Given the description of an element on the screen output the (x, y) to click on. 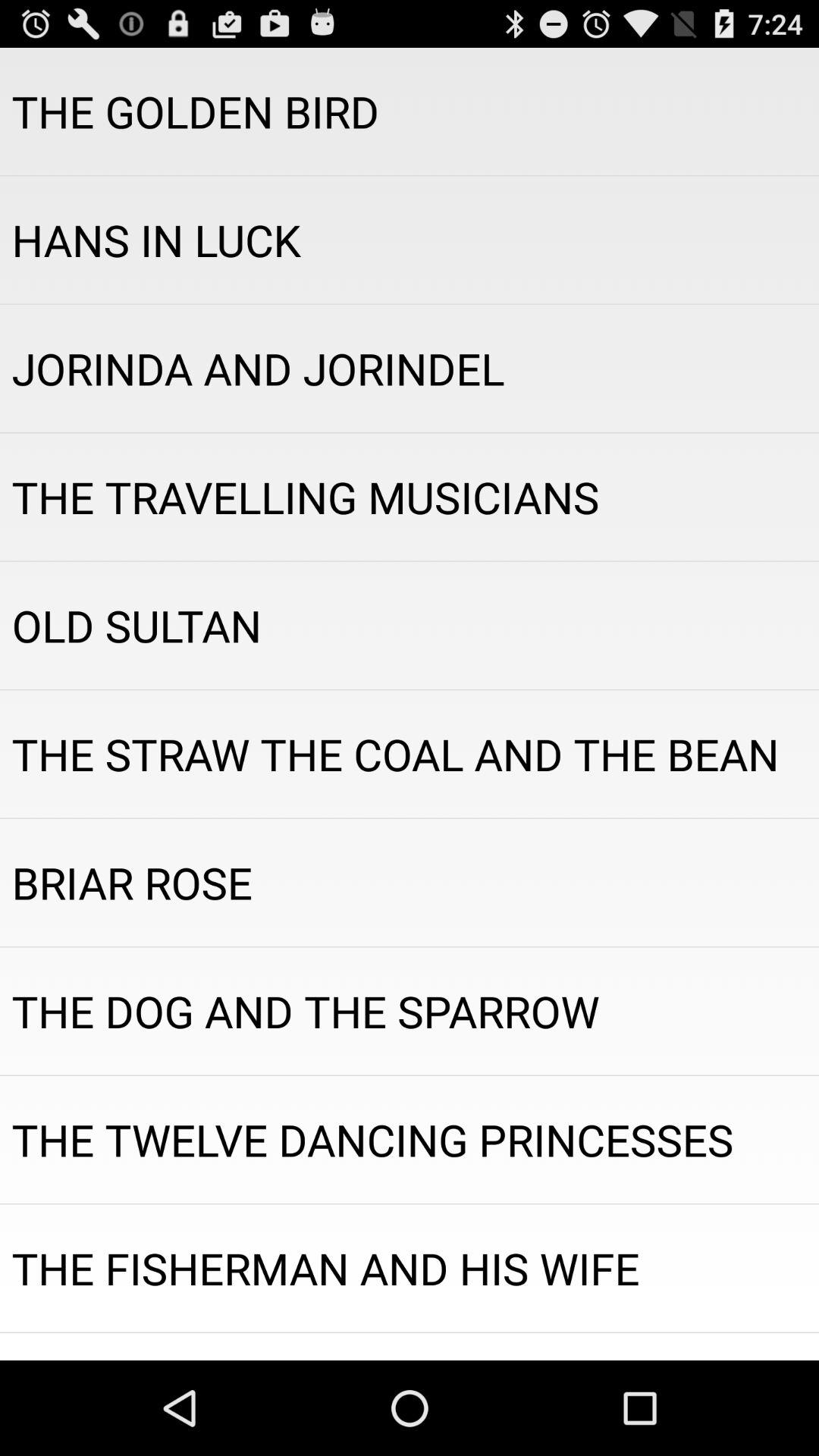
press icon below jorinda and jorindel (409, 496)
